Given the description of an element on the screen output the (x, y) to click on. 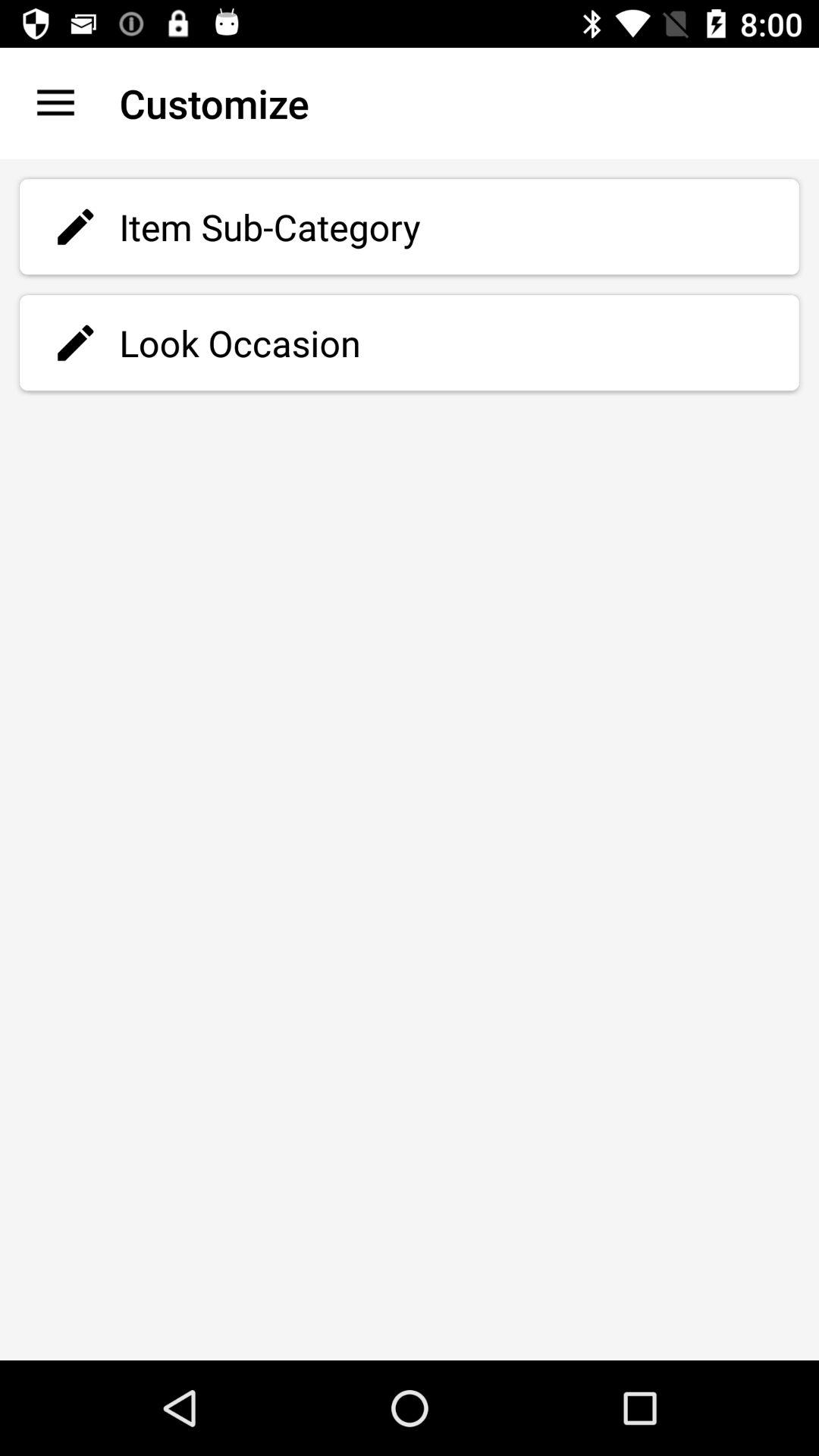
turn off the item sub-category (409, 226)
